Given the description of an element on the screen output the (x, y) to click on. 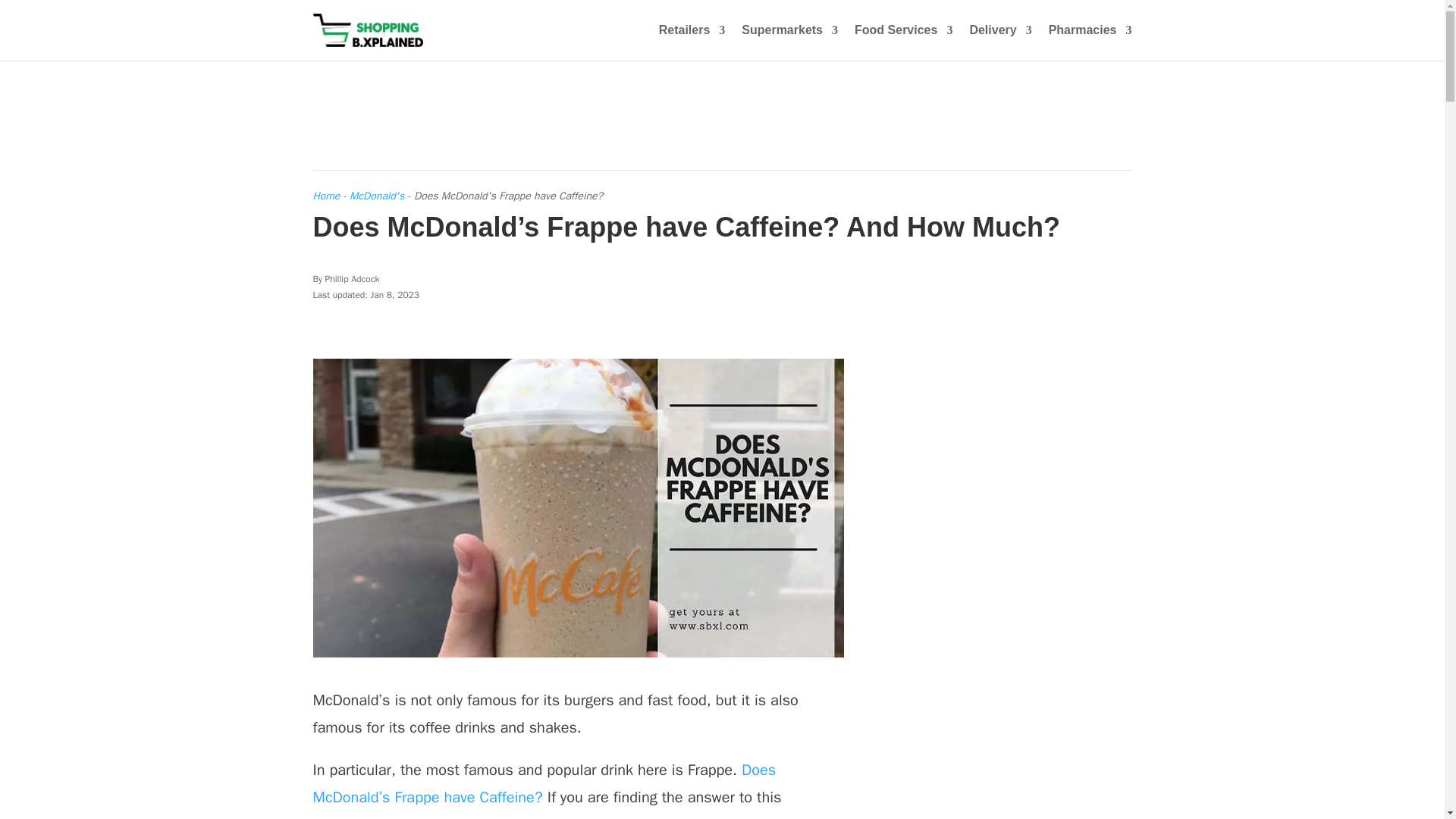
Retailers (692, 42)
Food Services (903, 42)
Supermarkets (789, 42)
Pharmacies (1090, 42)
Delivery (999, 42)
